Given the description of an element on the screen output the (x, y) to click on. 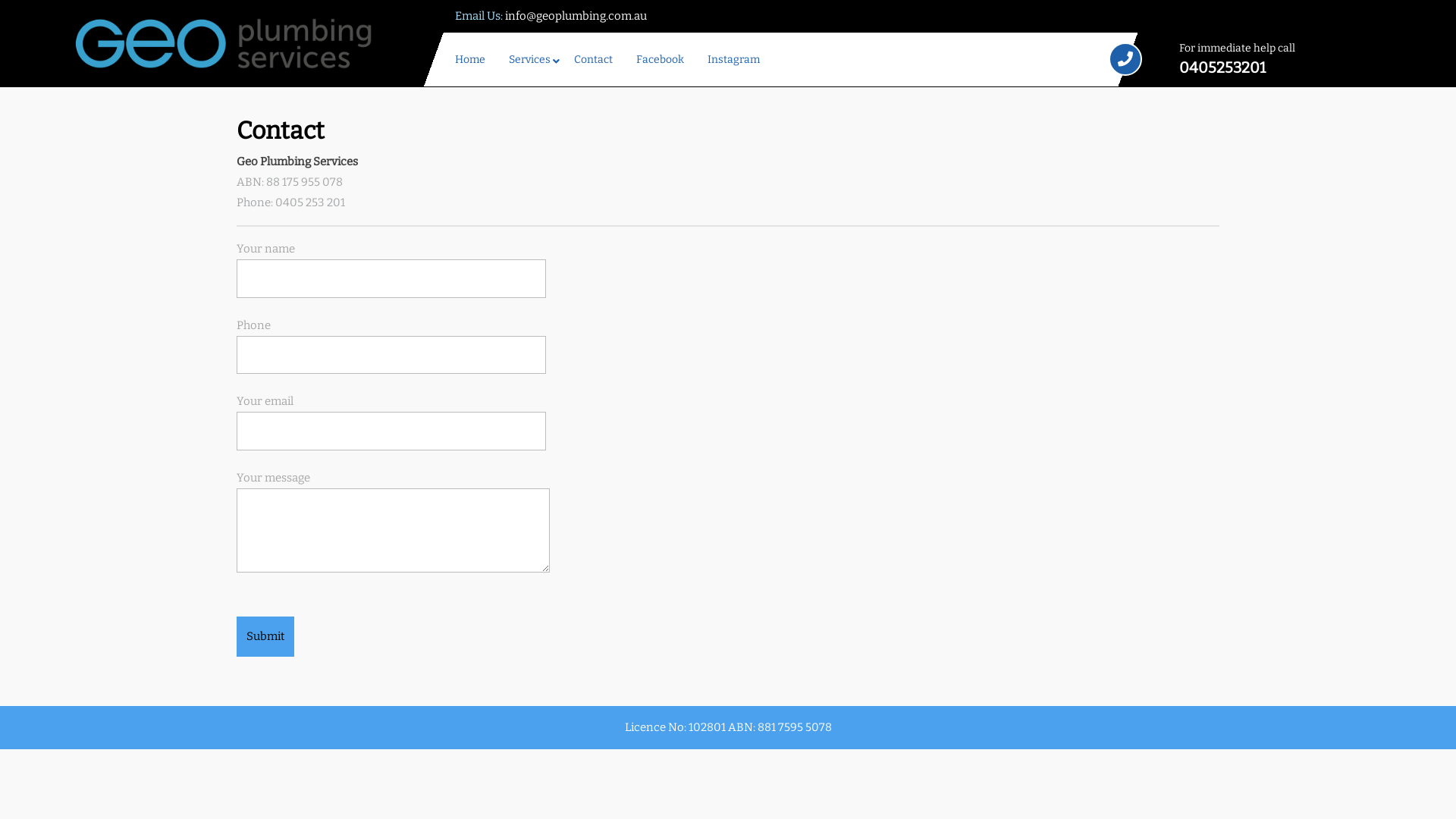
Submit Element type: text (265, 636)
Instagram Element type: text (734, 58)
Home Element type: text (470, 58)
Facebook Element type: text (661, 58)
Services Element type: text (530, 58)
Email Us: info@geoplumbing.com.au
info@geoplumbing.com.au Element type: text (550, 15)
0405253201
0405253201 Element type: text (1299, 67)
Contact Element type: text (594, 58)
